Given the description of an element on the screen output the (x, y) to click on. 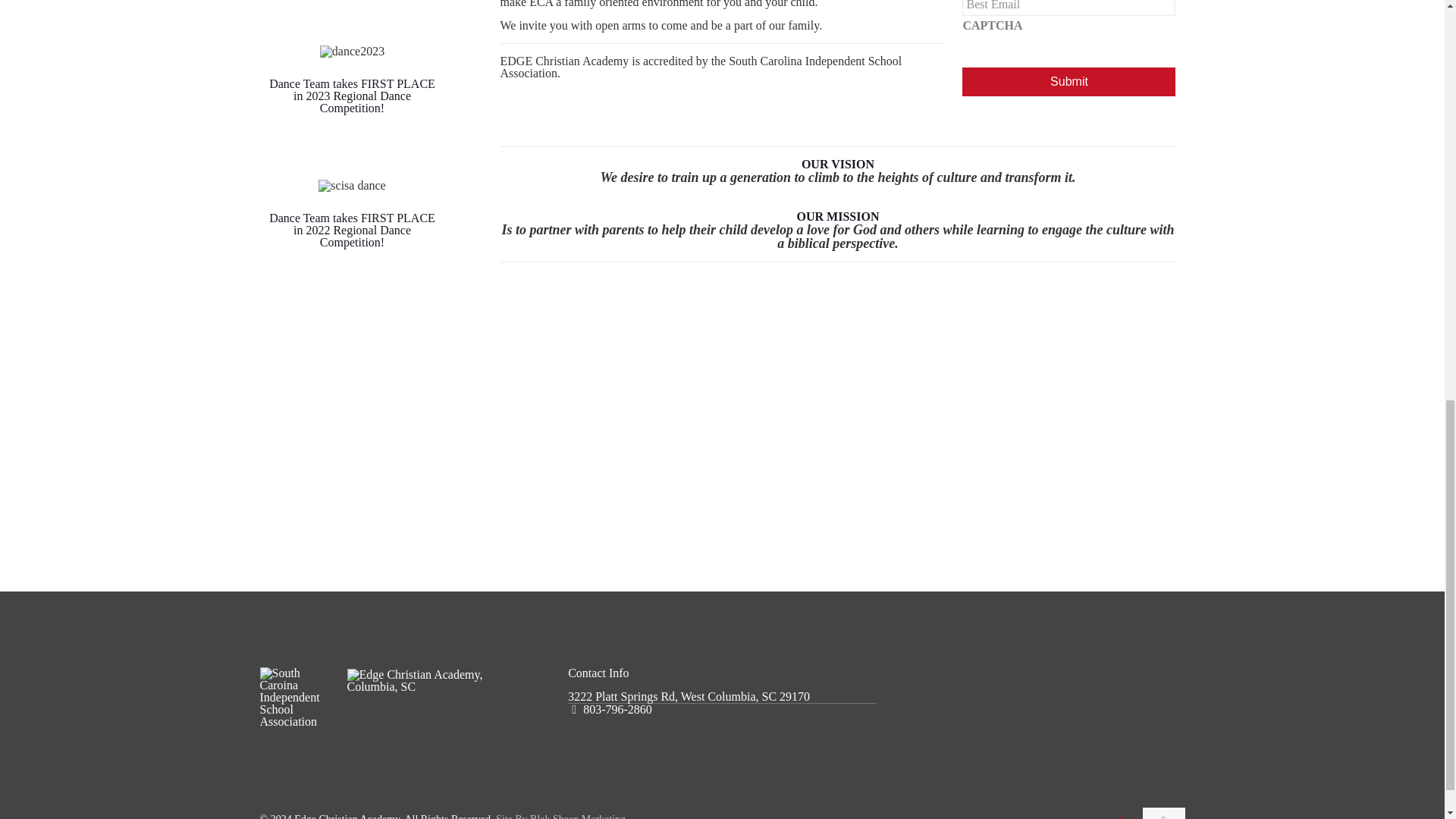
Submit (1068, 81)
Submit (1068, 81)
Facebook (1121, 816)
